Given the description of an element on the screen output the (x, y) to click on. 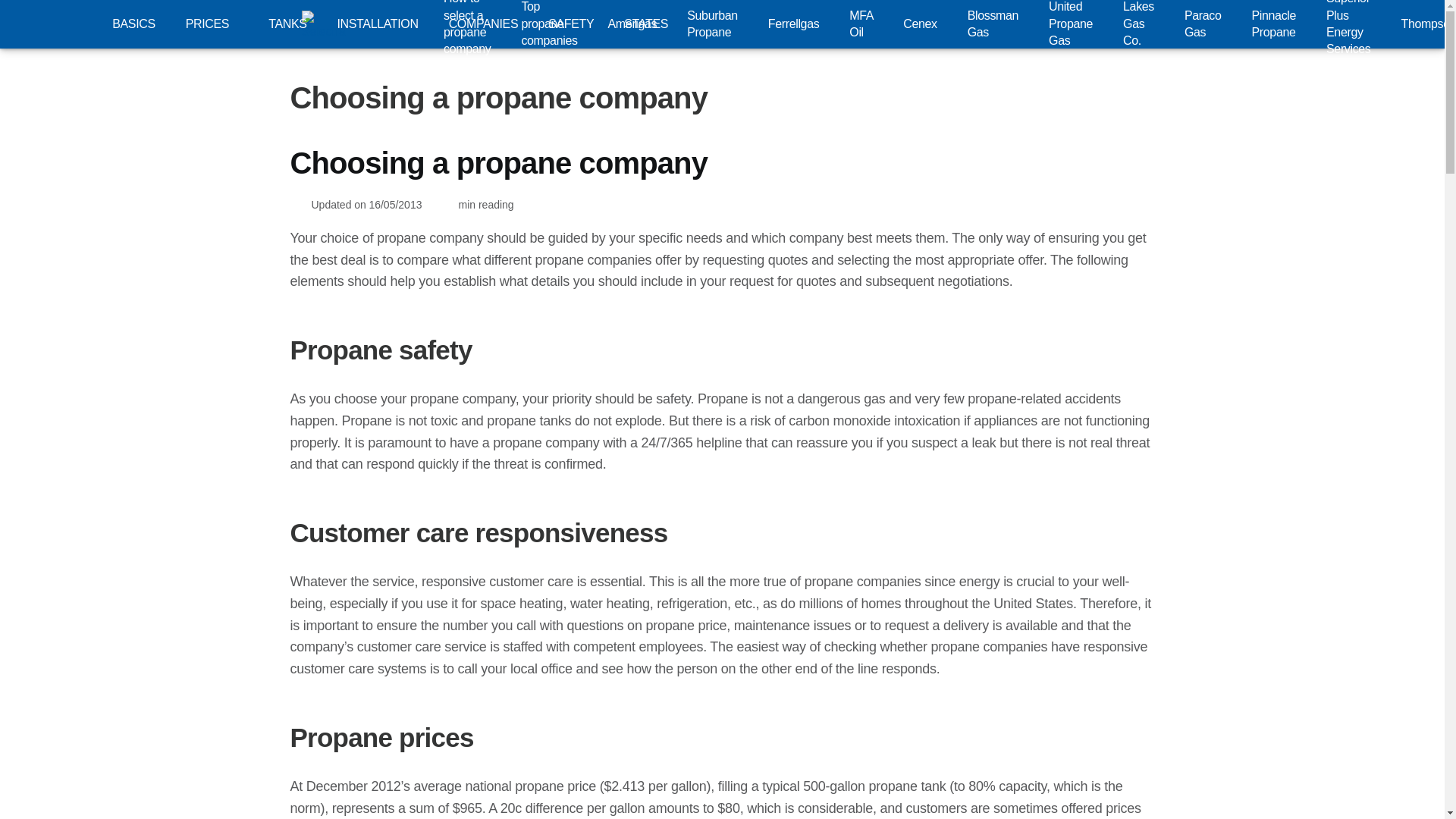
COMPANIES (483, 24)
Paraco Gas (1202, 24)
United Propane Gas (1070, 24)
Ferrellgas (793, 24)
Top propane companies (549, 24)
SAFETY (570, 24)
STATES (645, 24)
Lakes Gas Co. (1138, 24)
How to select a propane company (466, 24)
Cenex (918, 24)
